Given the description of an element on the screen output the (x, y) to click on. 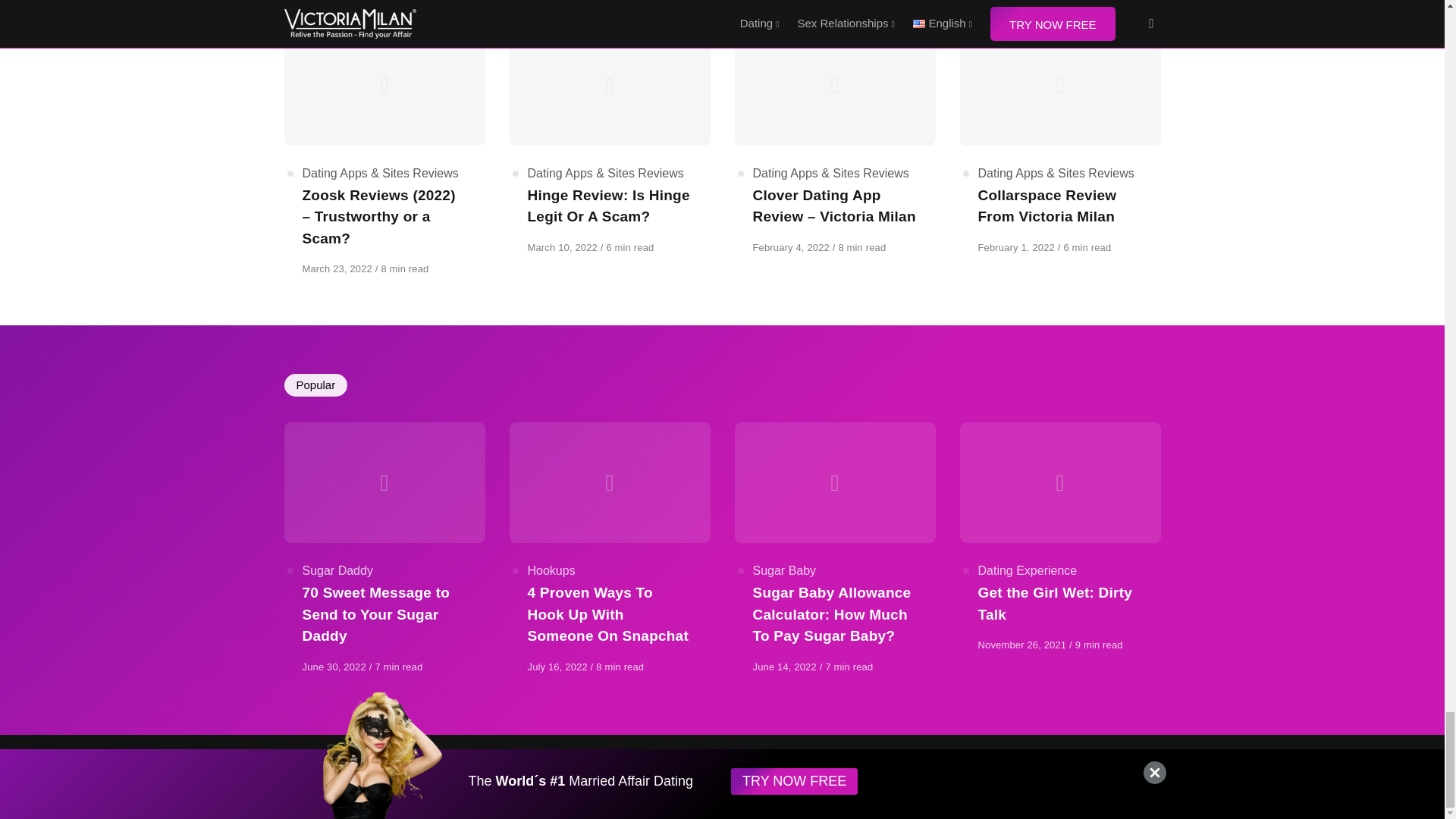
June 30, 2022 (334, 666)
March 23, 2022 (337, 268)
July 16, 2022 (559, 666)
March 10, 2022 (563, 247)
February 1, 2022 (1018, 247)
November 26, 2021 (1024, 644)
February 4, 2022 (791, 247)
June 14, 2022 (785, 666)
